Given the description of an element on the screen output the (x, y) to click on. 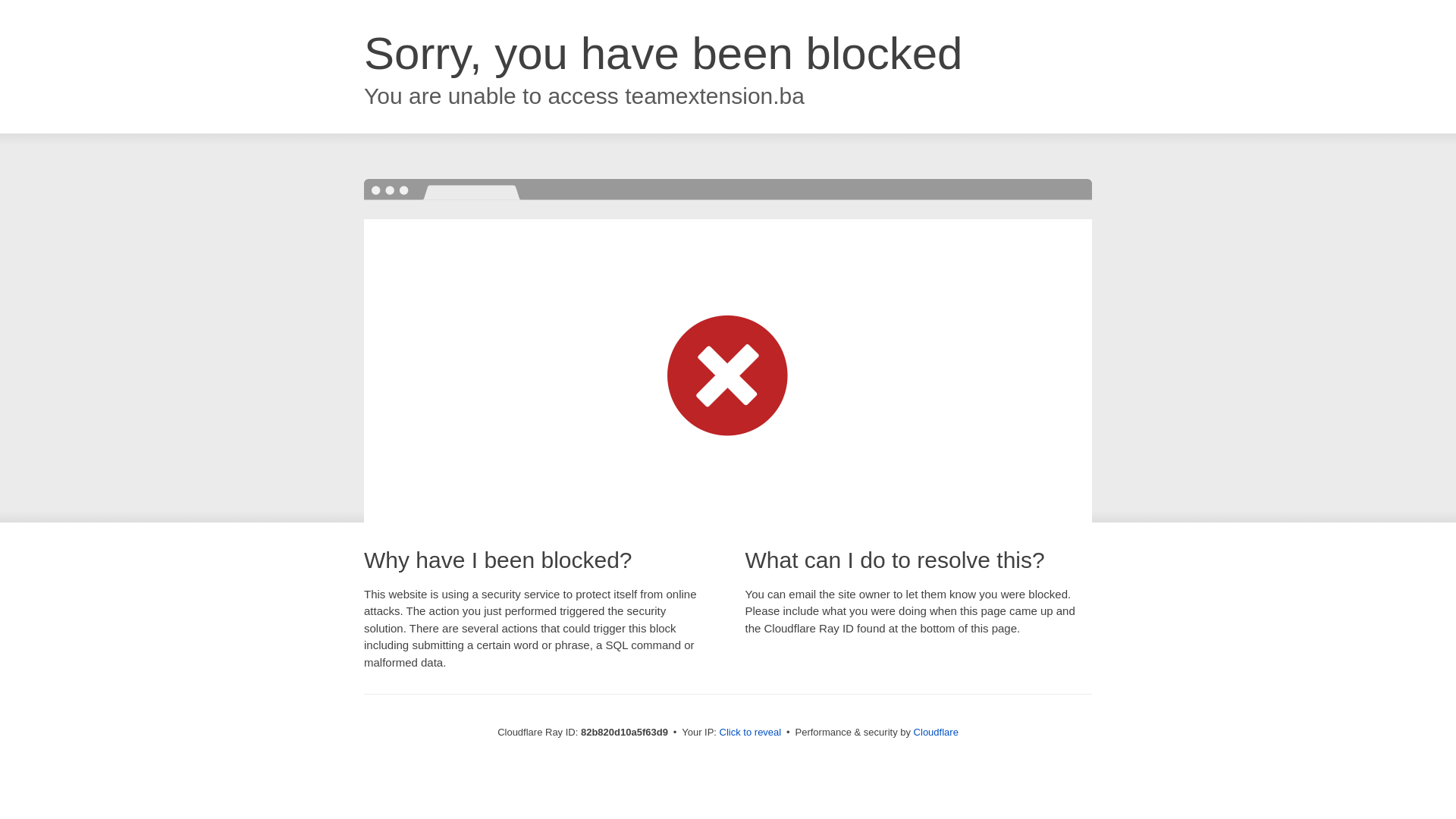
Click to reveal Element type: text (750, 732)
Cloudflare Element type: text (935, 731)
